Given the description of an element on the screen output the (x, y) to click on. 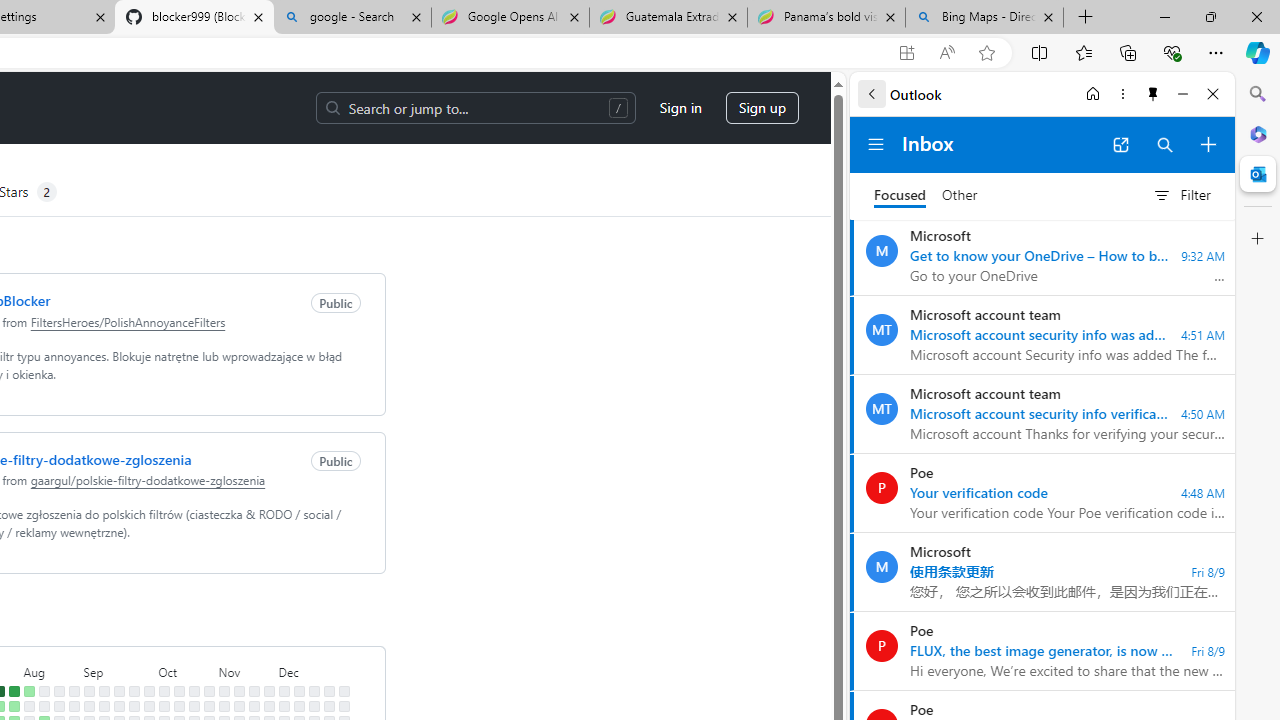
Open in new tab (1120, 144)
No contributions on December 1st. (283, 691)
No contributions on November 4th. (223, 706)
Filter (1181, 195)
Folder navigation (876, 144)
December (313, 670)
Focused (900, 195)
FiltersHeroes/PolishAnnoyanceFilters (127, 321)
No contributions on August 12th. (43, 706)
No contributions on August 26th. (73, 706)
3 contributions on August 4th. (28, 691)
